Given the description of an element on the screen output the (x, y) to click on. 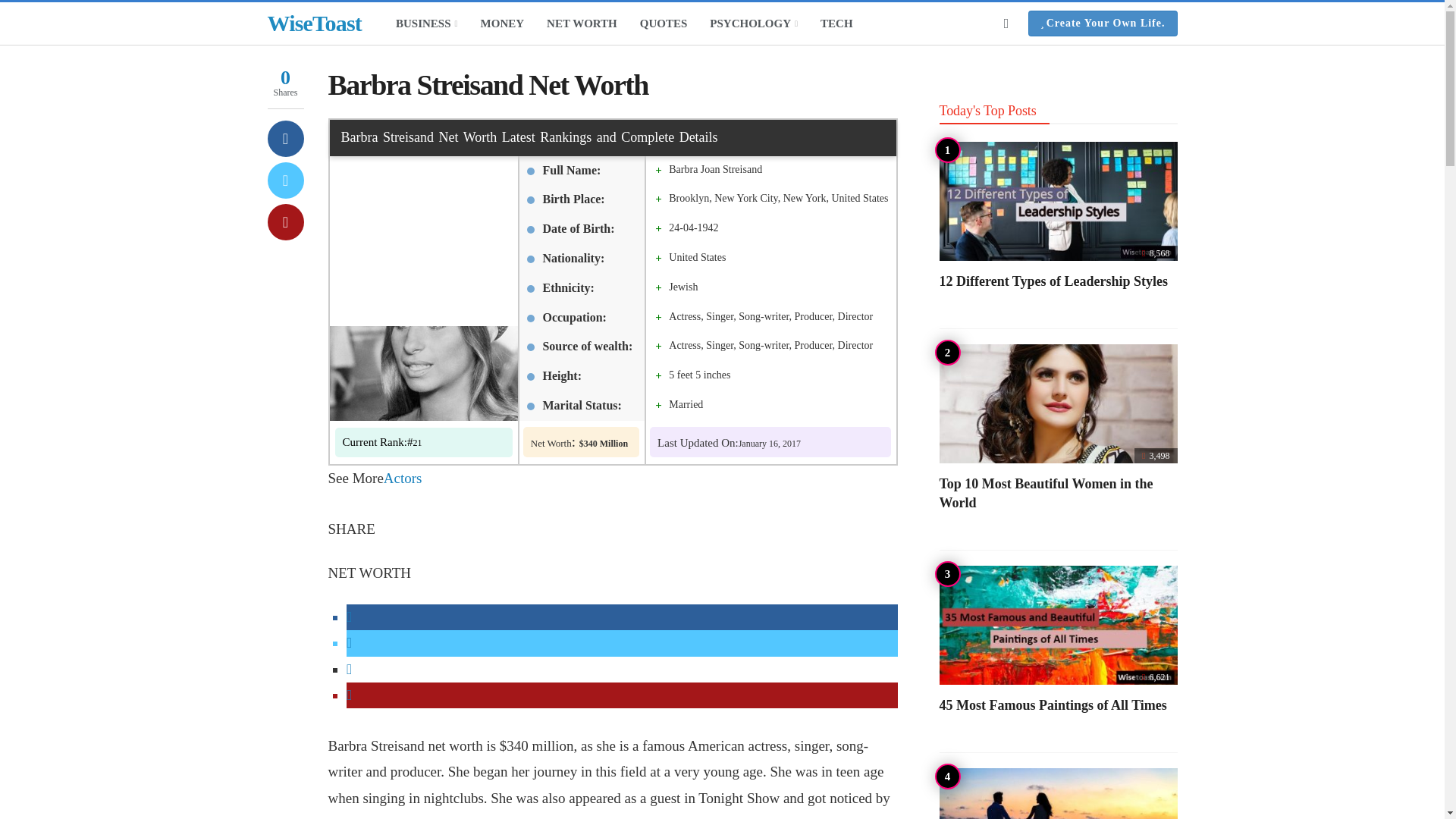
MONEY (501, 22)
Top 10 Most Beautiful Women in the World (1057, 403)
WiseToast (313, 23)
BUSINESS (426, 22)
12 Different Types of Leadership Styles (1053, 281)
TECH (836, 22)
12 Different Types of Leadership Styles (1057, 201)
Actors (403, 478)
QUOTES (663, 22)
PSYCHOLOGY (753, 22)
Top 10 Most Beautiful Women in the World (1046, 492)
Barbra Streisand Net Worth (377, 441)
Create Your Own Life. (1102, 23)
NET WORTH (581, 22)
